Given the description of an element on the screen output the (x, y) to click on. 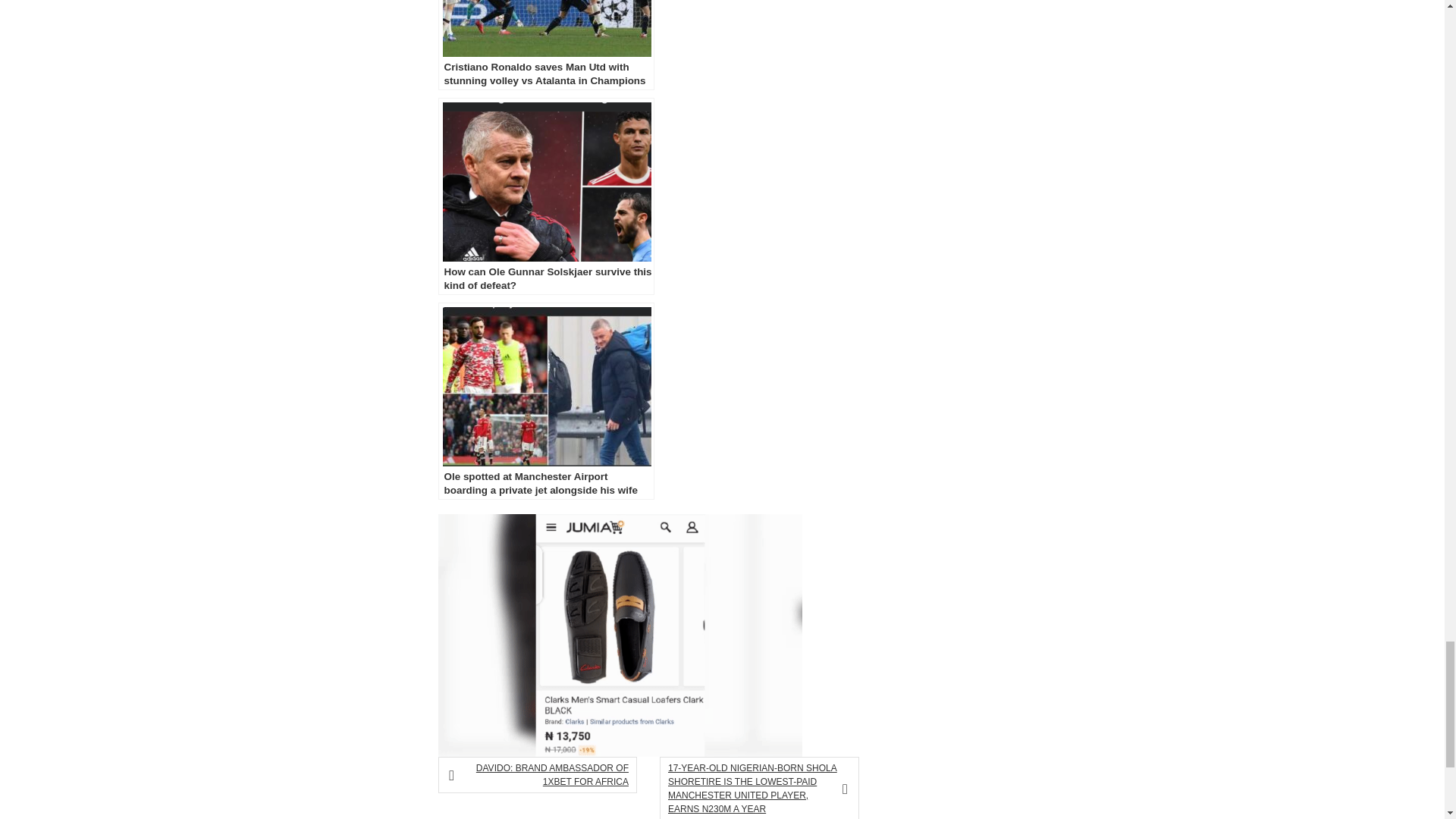
How can Ole Gunnar Solskjaer survive this kind of defeat? (545, 195)
